Given the description of an element on the screen output the (x, y) to click on. 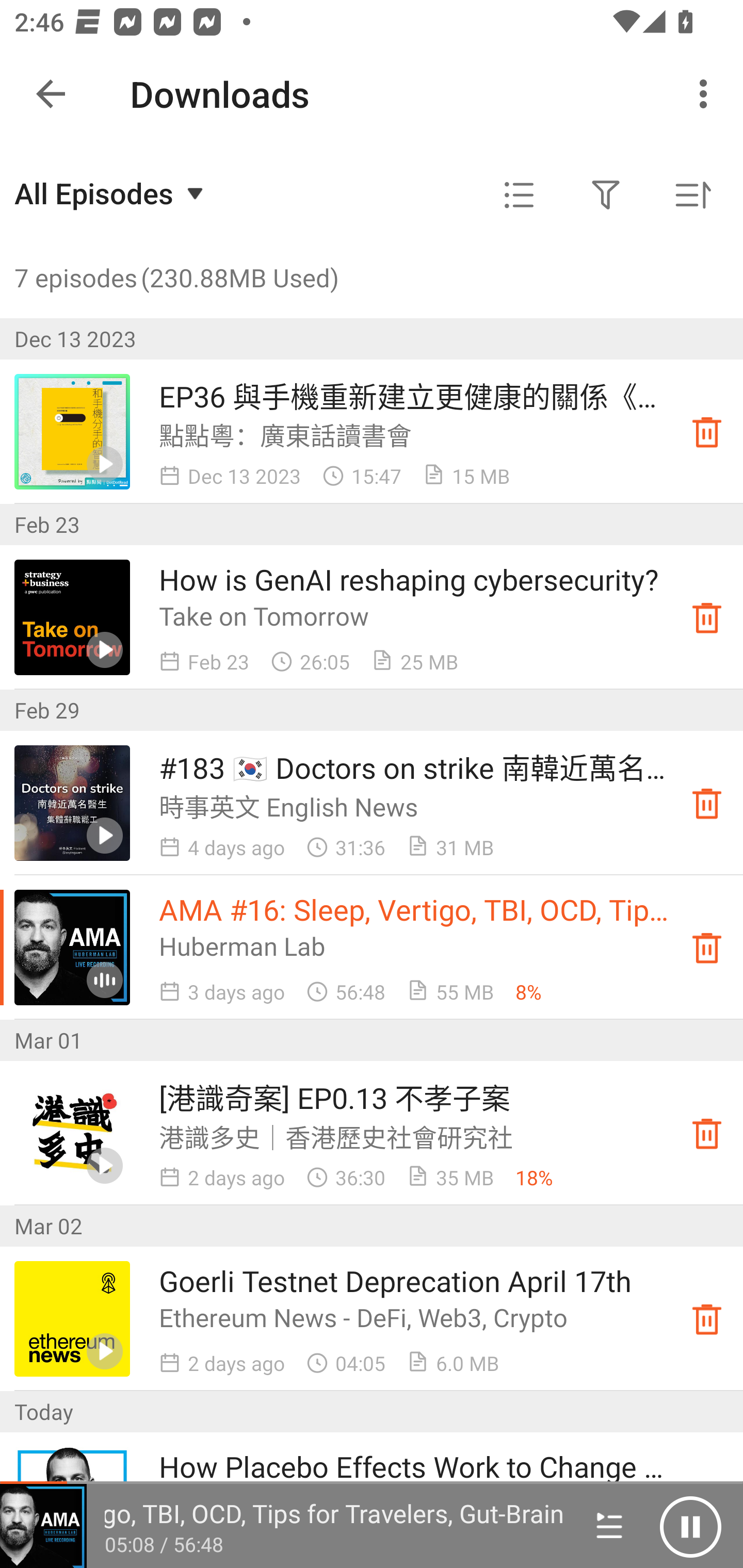
Navigate up (50, 93)
More options (706, 93)
All Episodes (111, 192)
 (518, 195)
 (605, 195)
 Sorted by oldest first (692, 195)
Downloaded (706, 431)
Downloaded (706, 617)
Downloaded (706, 802)
Downloaded (706, 947)
Downloaded (706, 1133)
Downloaded (706, 1318)
Pause (690, 1526)
